Given the description of an element on the screen output the (x, y) to click on. 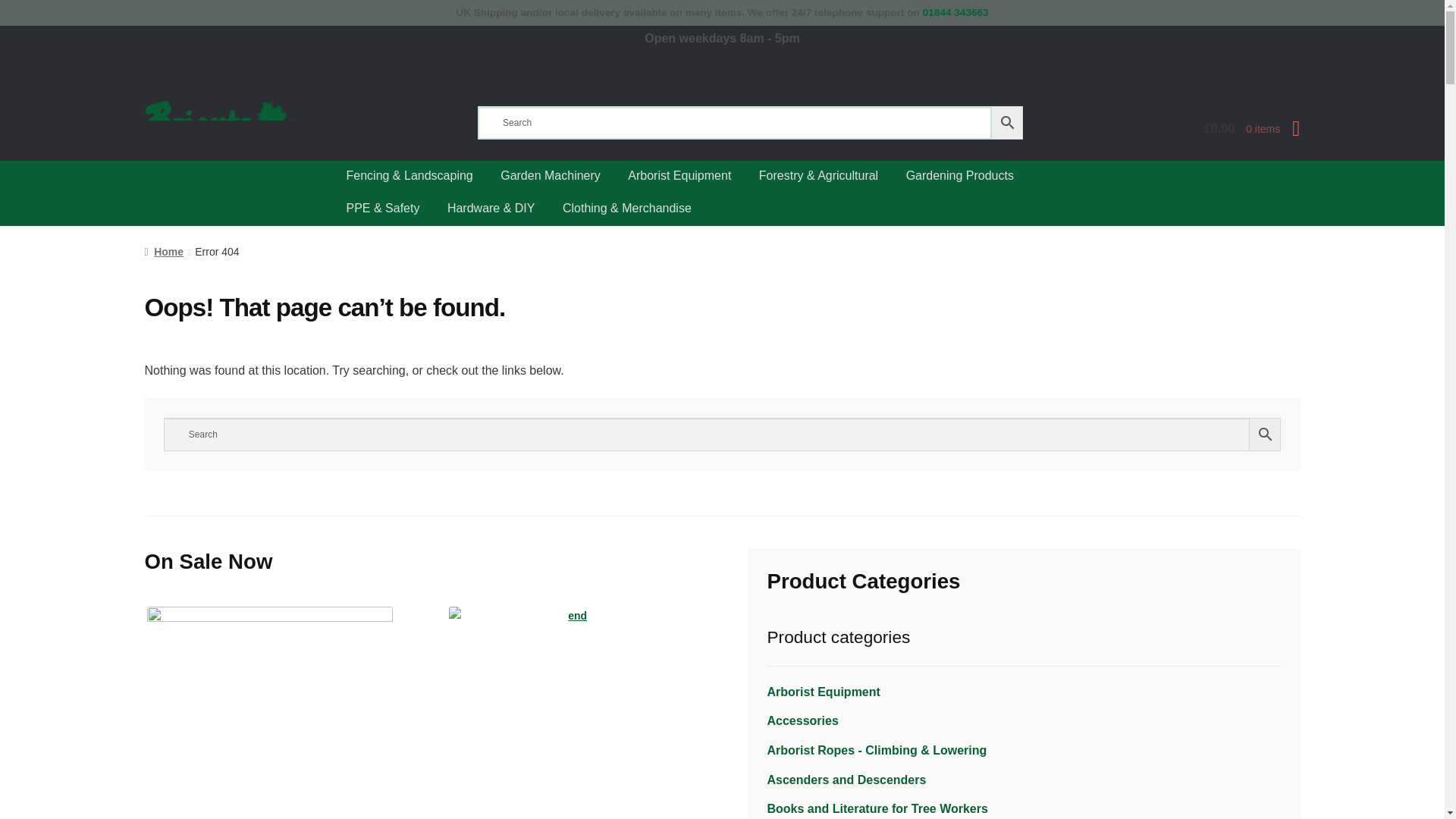
Accessories (802, 720)
Arborist Equipment (678, 176)
Arborist Equipment (823, 691)
View your shopping basket (1176, 129)
Garden Machinery (549, 176)
01844 343663 (955, 12)
Books and Literature for Tree Workers (877, 808)
Home (163, 251)
Ascenders and Descenders (846, 779)
